Given the description of an element on the screen output the (x, y) to click on. 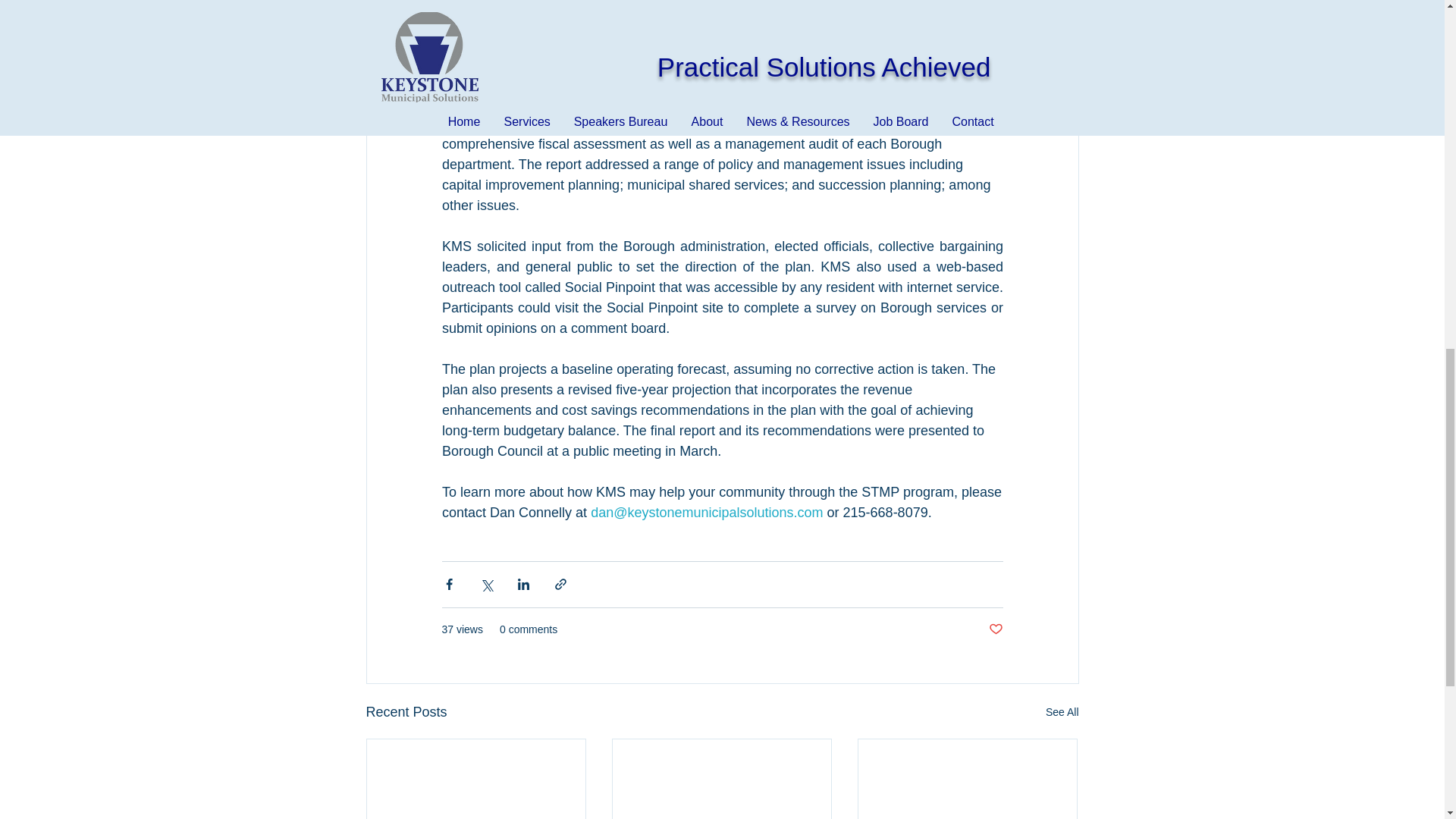
Post not marked as liked (995, 629)
See All (1061, 712)
